Given the description of an element on the screen output the (x, y) to click on. 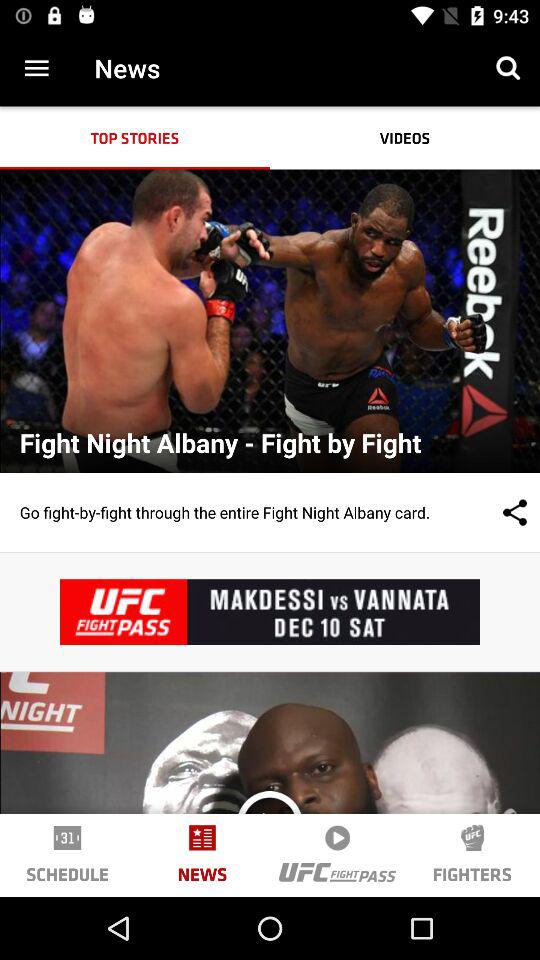
open icon to the right of news icon (269, 823)
